Given the description of an element on the screen output the (x, y) to click on. 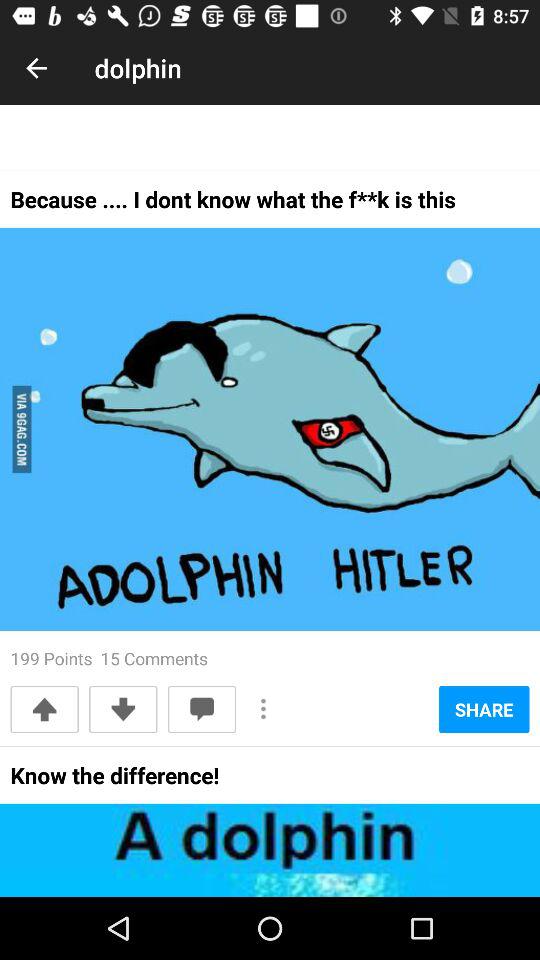
turn off the 199 points 	15 (109, 658)
